Given the description of an element on the screen output the (x, y) to click on. 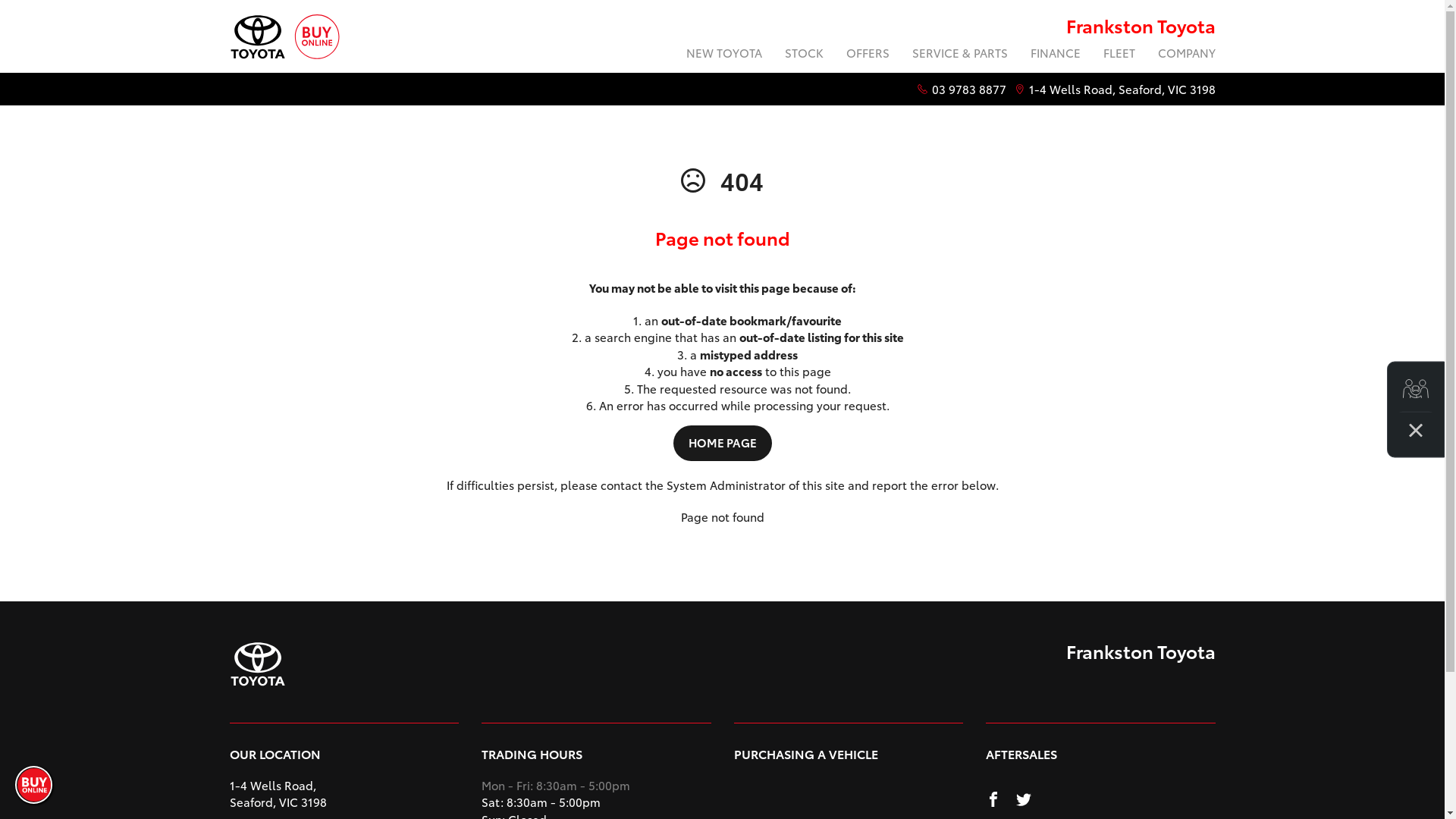
HOME PAGE Element type: text (722, 442)
FLEET Element type: text (1119, 54)
SERVICE & PARTS Element type: text (959, 54)
03 9783 8877 Element type: text (968, 88)
STOCK Element type: text (803, 54)
NEW TOYOTA Element type: text (723, 54)
COMPANY Element type: text (1180, 54)
OFFERS Element type: text (867, 54)
1-4 Wells Road, Seaford, VIC 3198 Element type: text (1121, 88)
FINANCE Element type: text (1055, 54)
